Given the description of an element on the screen output the (x, y) to click on. 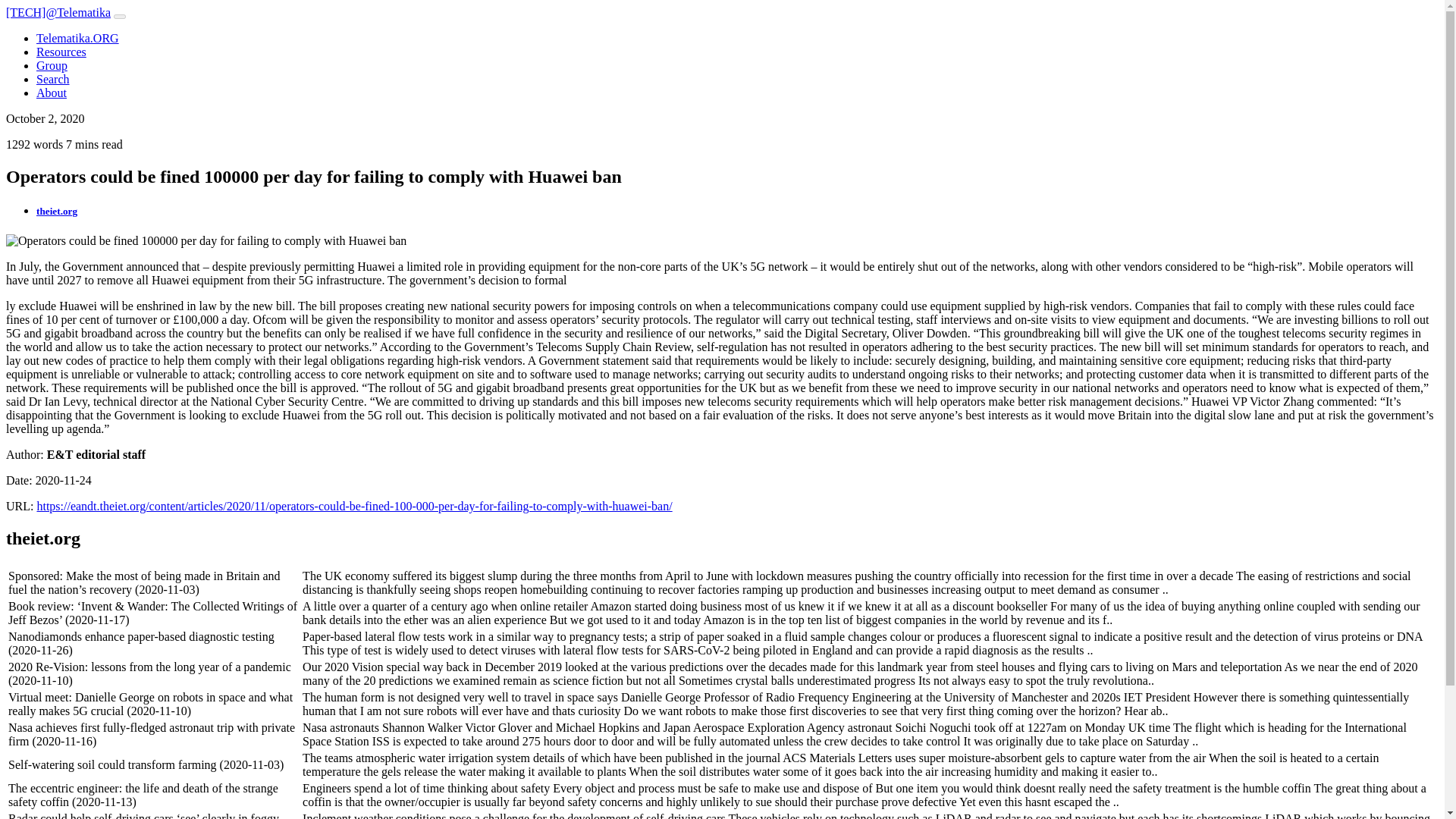
About (51, 92)
Search (52, 78)
Telematika.ORG (77, 38)
Group (51, 65)
Resources (60, 51)
theiet.org (56, 211)
